Given the description of an element on the screen output the (x, y) to click on. 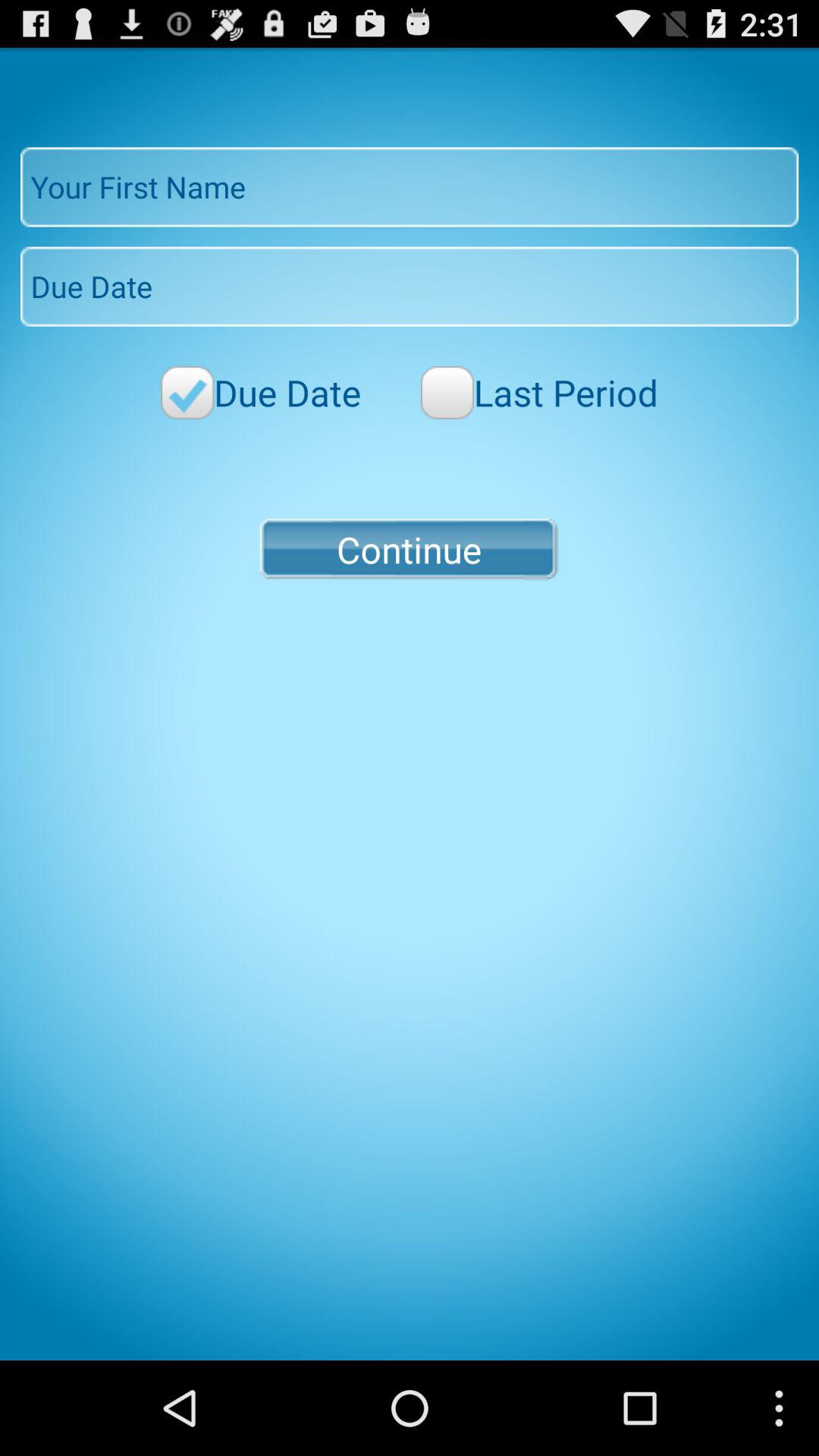
open icon at the center (408, 549)
